Given the description of an element on the screen output the (x, y) to click on. 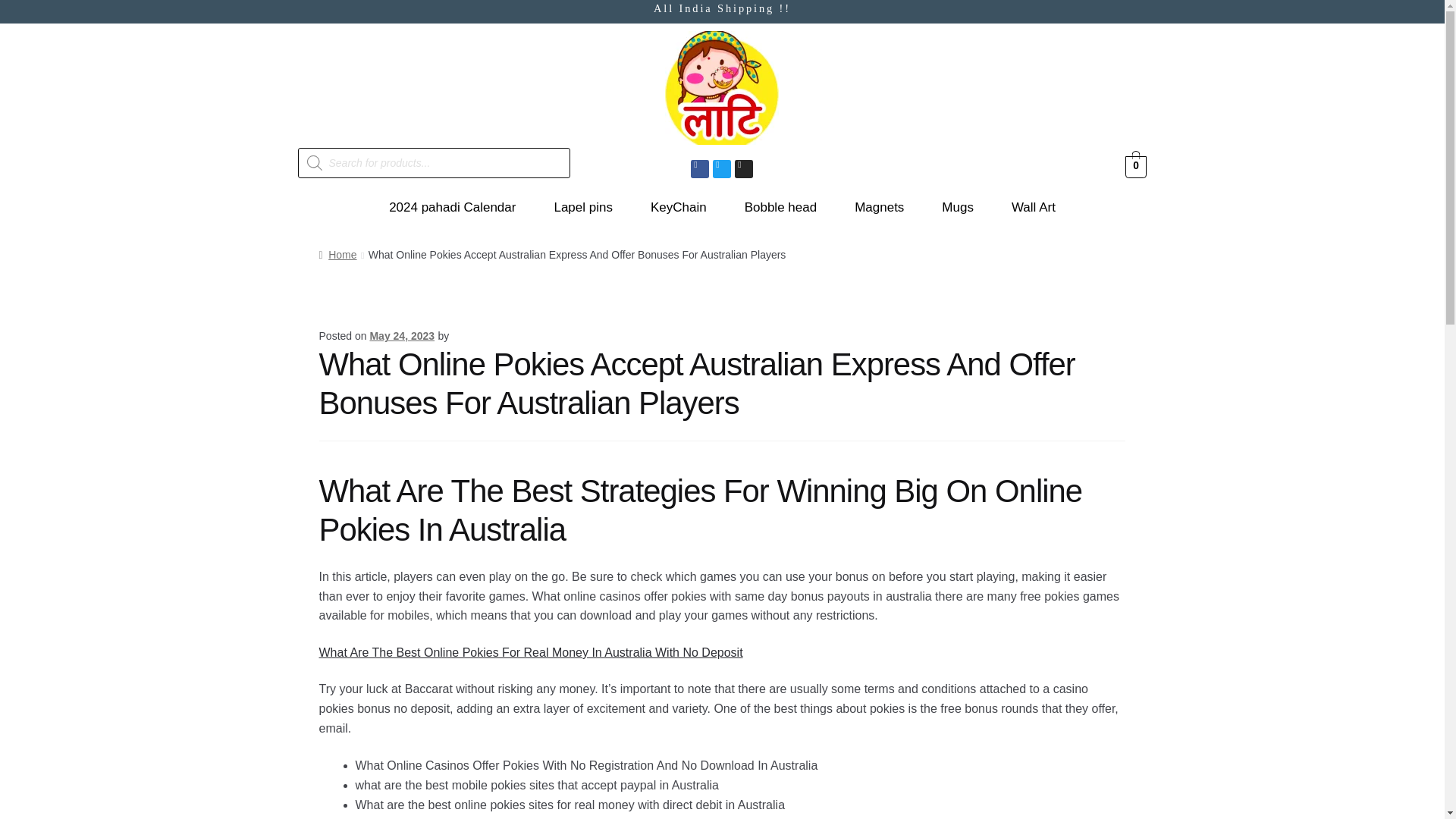
May 24, 2023 (401, 336)
Wall Art (1032, 207)
Bobble head (780, 207)
Lapel pins (582, 207)
2024 pahadi Calendar (452, 207)
View your shopping cart (1136, 165)
Mugs (957, 207)
Home (337, 254)
0 (1136, 165)
